Given the description of an element on the screen output the (x, y) to click on. 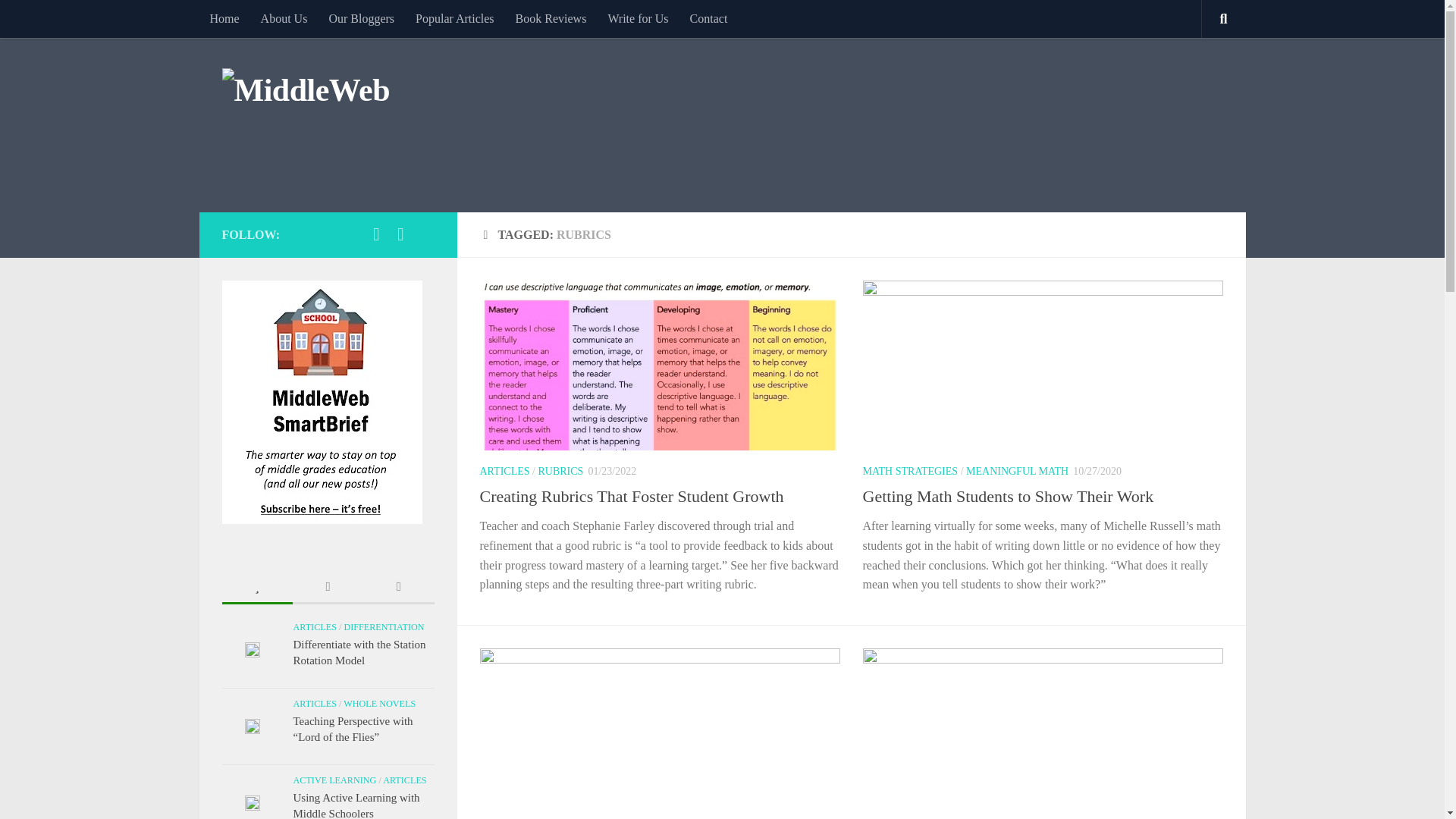
Home (223, 18)
Book Reviews (550, 18)
ARTICLES (504, 471)
Our Bloggers (360, 18)
MATH STRATEGIES (910, 471)
Getting Math Students to Show Their Work (1008, 496)
Creating Rubrics That Foster Student Growth (631, 496)
About Us (284, 18)
MEANINGFUL MATH (1017, 471)
Contact (708, 18)
Popular Articles (454, 18)
RUBRICS (560, 471)
Write for Us (637, 18)
Skip to content (59, 20)
